Given the description of an element on the screen output the (x, y) to click on. 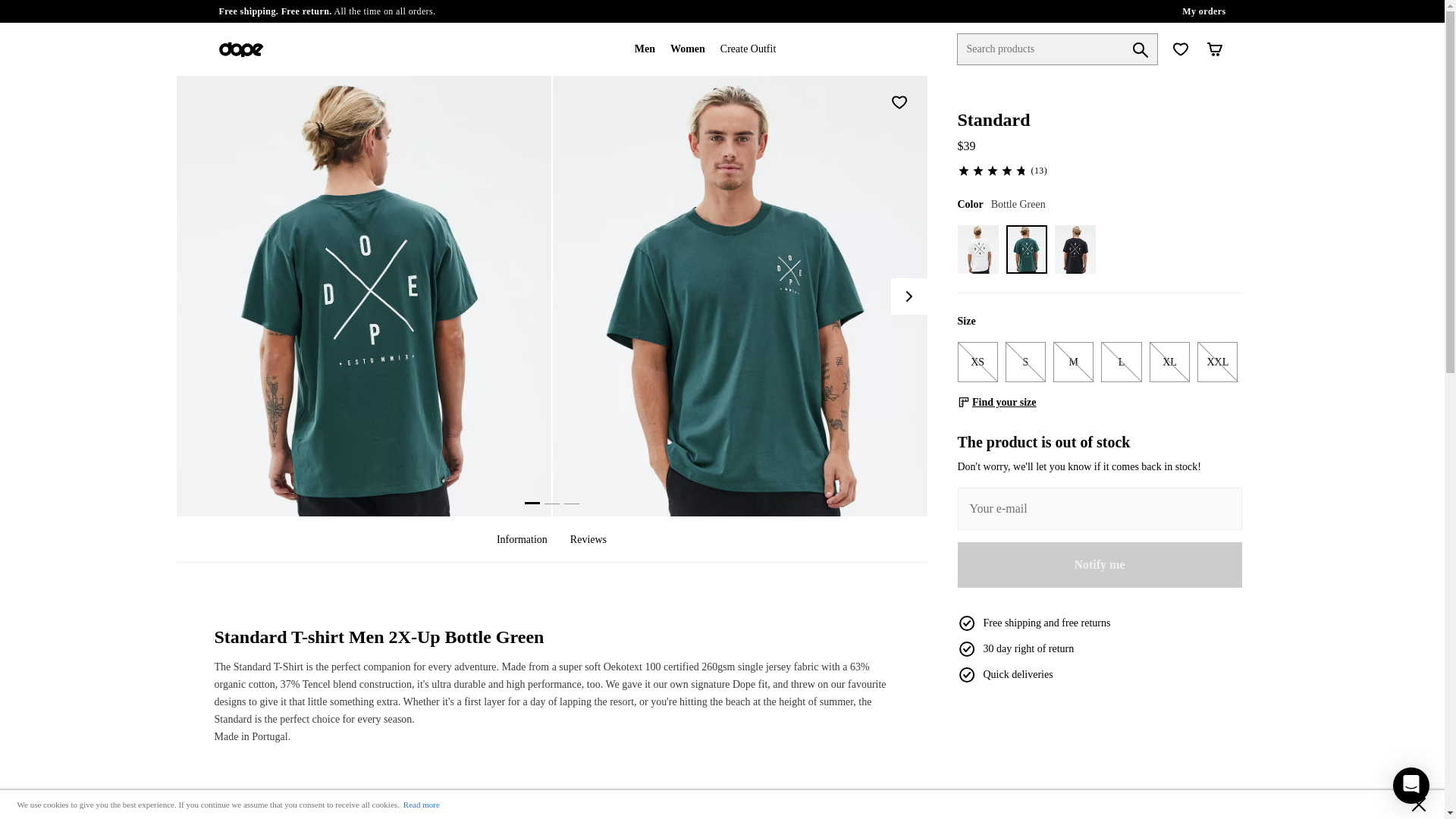
M (1072, 361)
XS (976, 361)
Notify me (1098, 565)
S (1025, 361)
Reviews (588, 539)
XL (1169, 361)
Create Outfit (748, 49)
My orders (1203, 10)
Women (686, 49)
Find your size (995, 402)
